Given the description of an element on the screen output the (x, y) to click on. 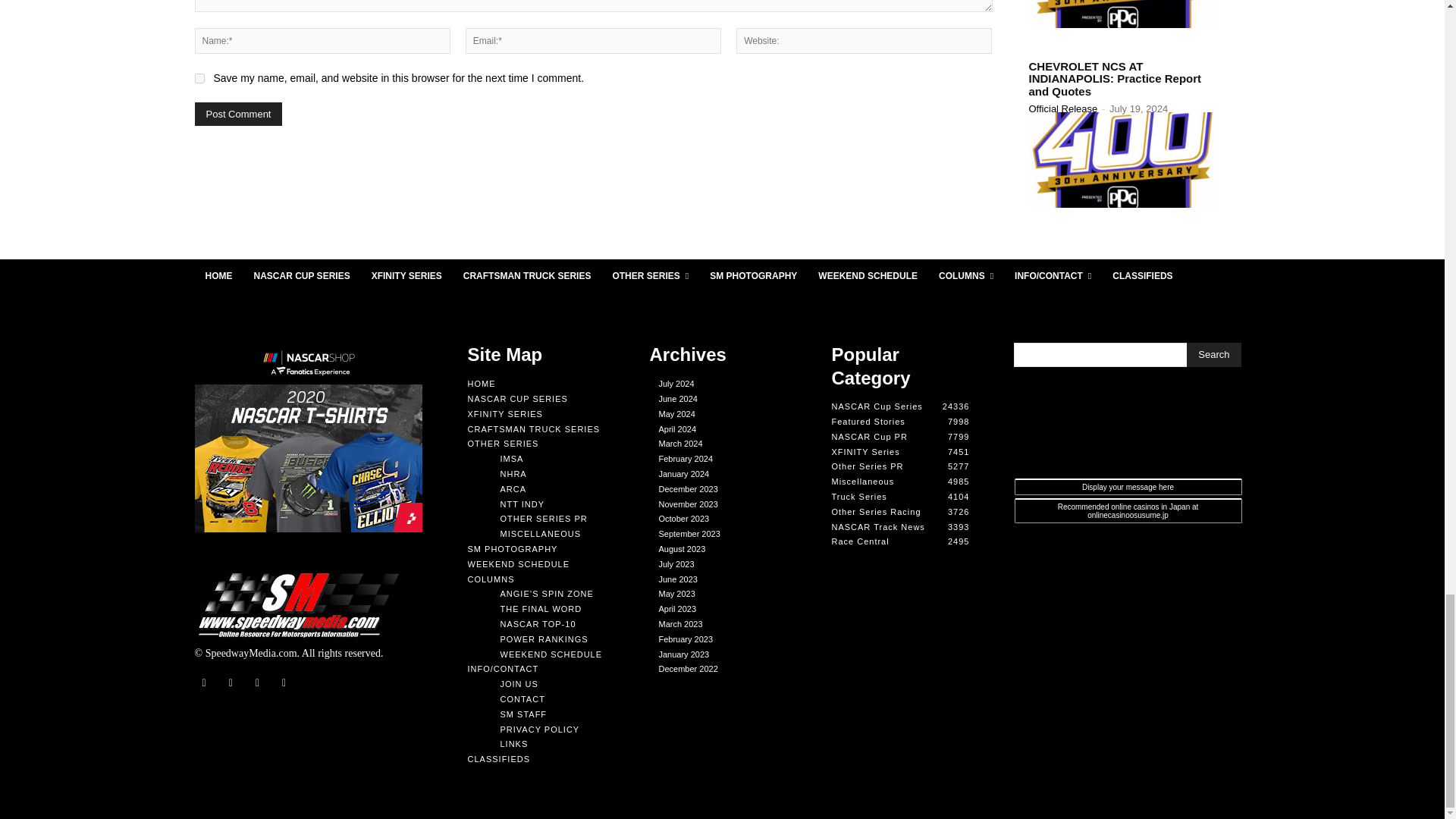
Post Comment (237, 114)
yes (198, 78)
